Given the description of an element on the screen output the (x, y) to click on. 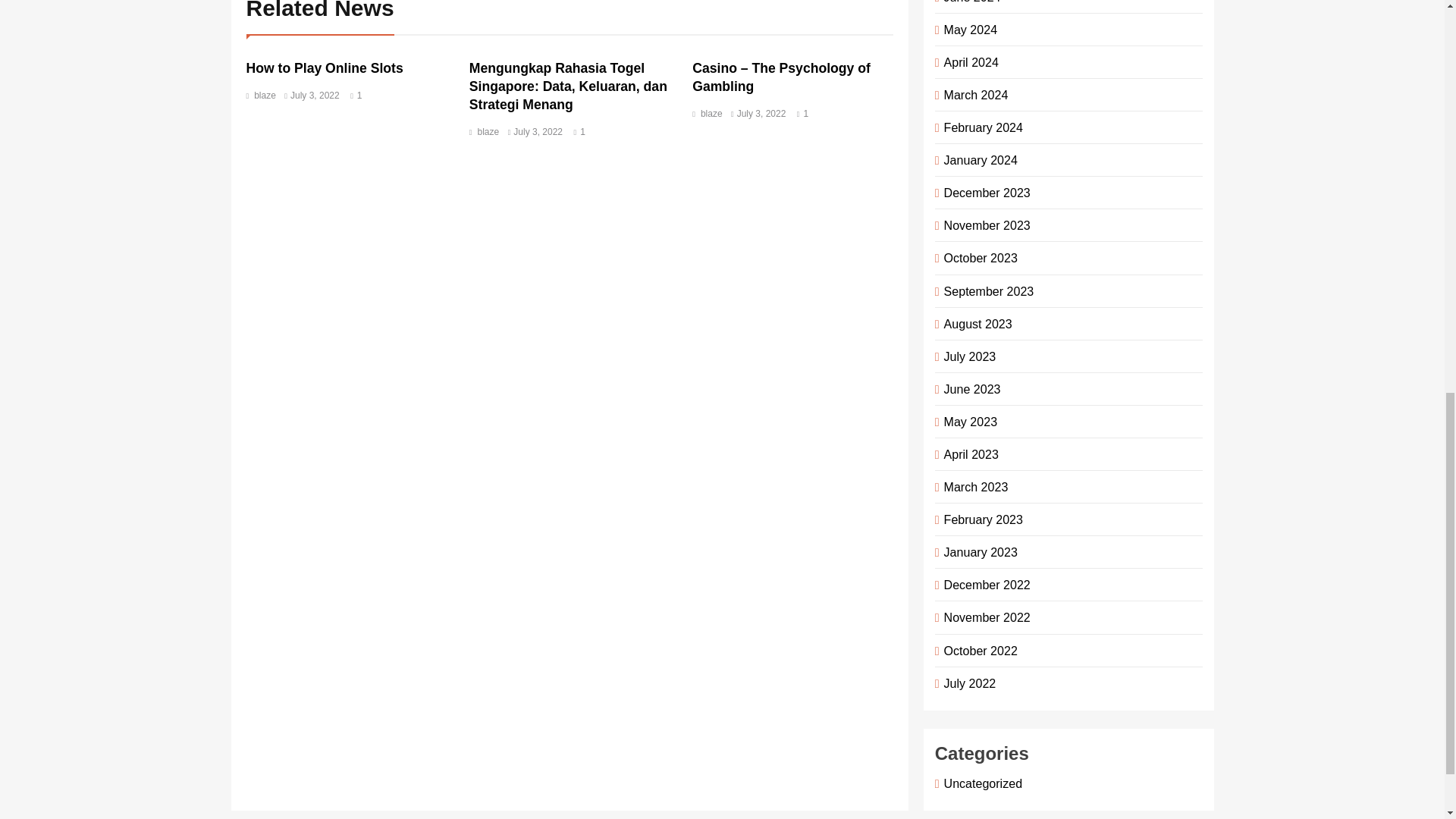
January 2024 (978, 160)
May 2024 (967, 29)
December 2023 (983, 192)
April 2024 (968, 61)
How to Play Online Slots (324, 68)
February 2024 (980, 127)
March 2024 (972, 94)
June 2024 (969, 2)
